Given the description of an element on the screen output the (x, y) to click on. 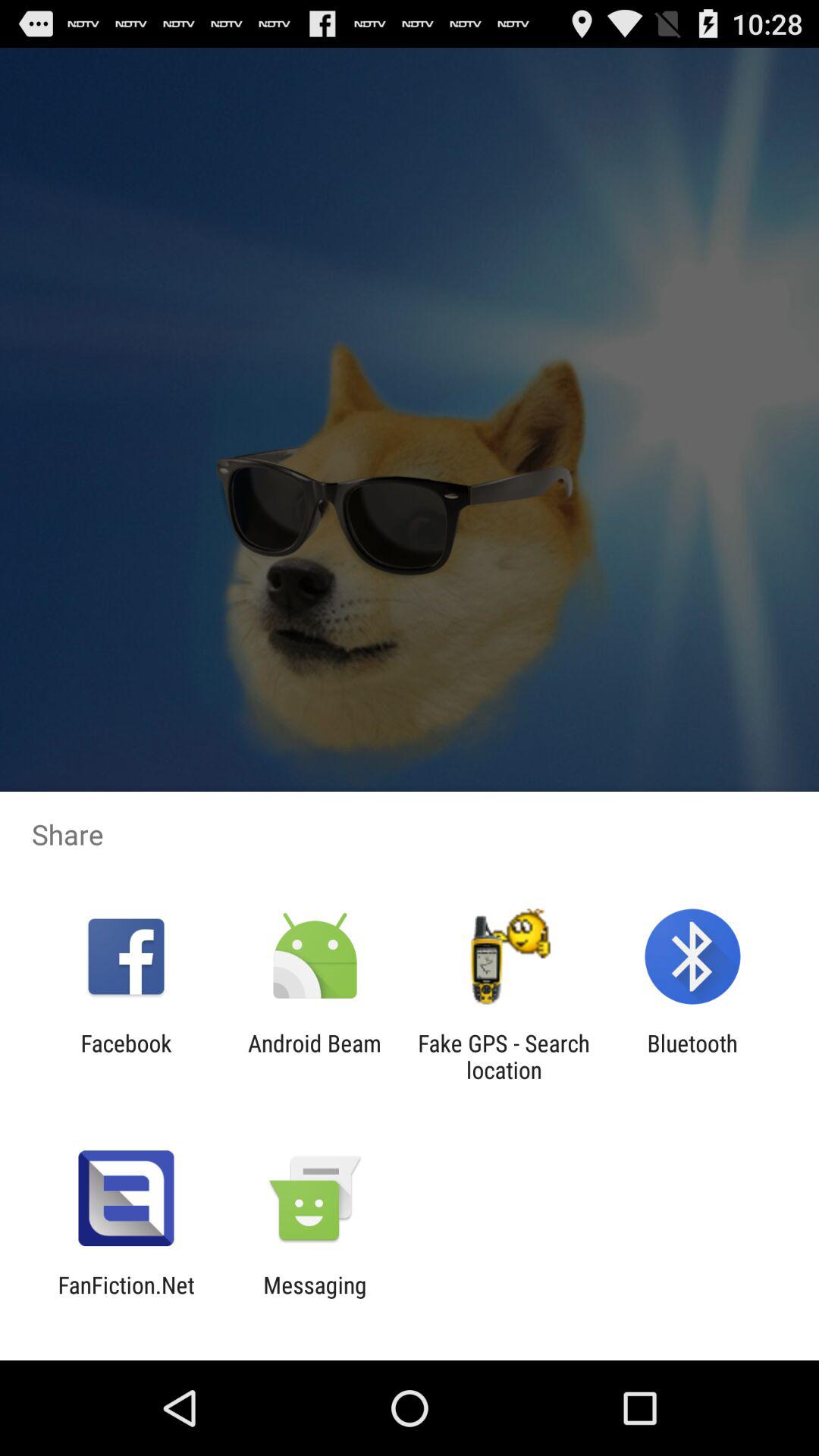
jump until the bluetooth icon (692, 1056)
